Given the description of an element on the screen output the (x, y) to click on. 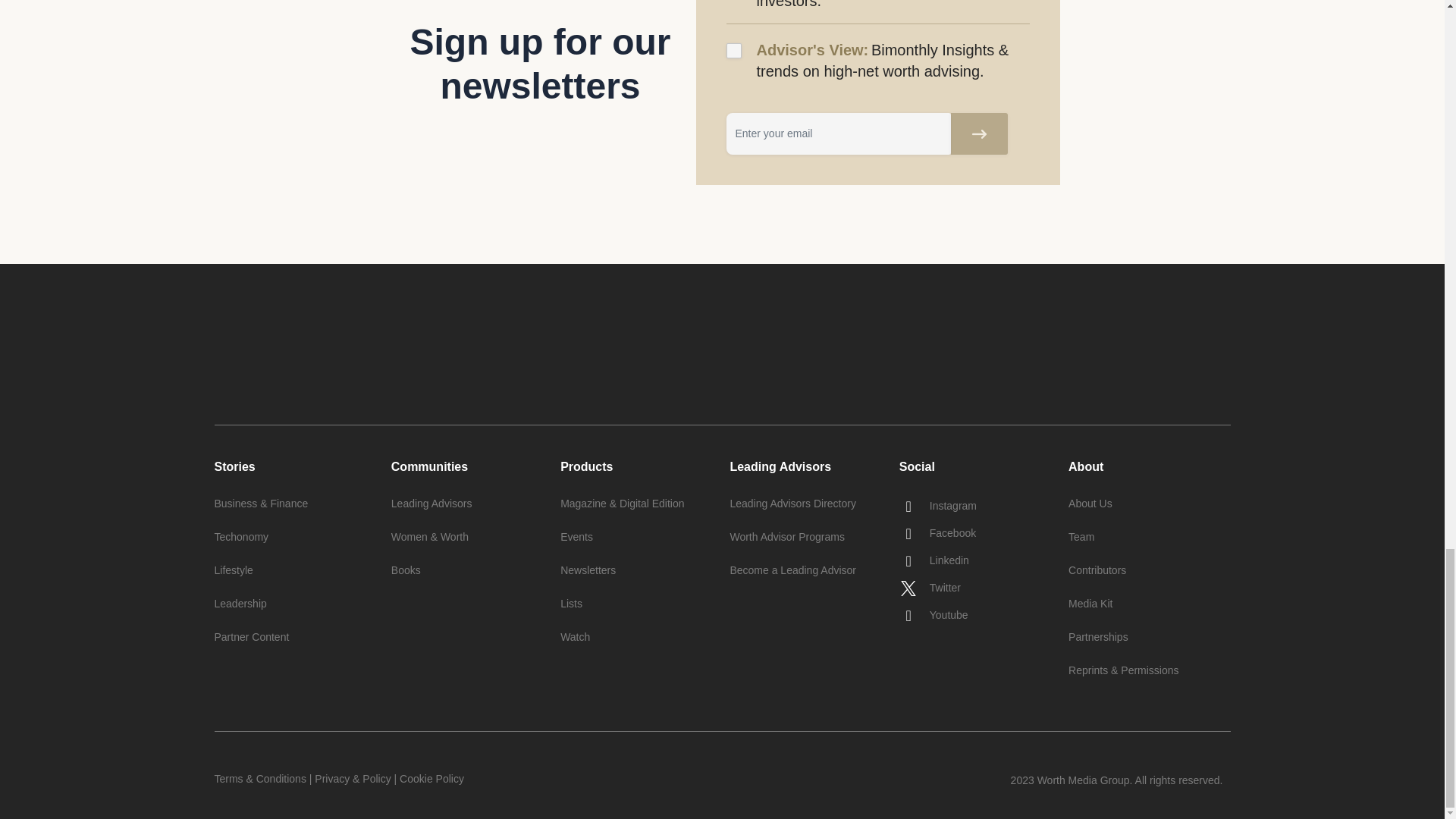
yes (733, 50)
